Given the description of an element on the screen output the (x, y) to click on. 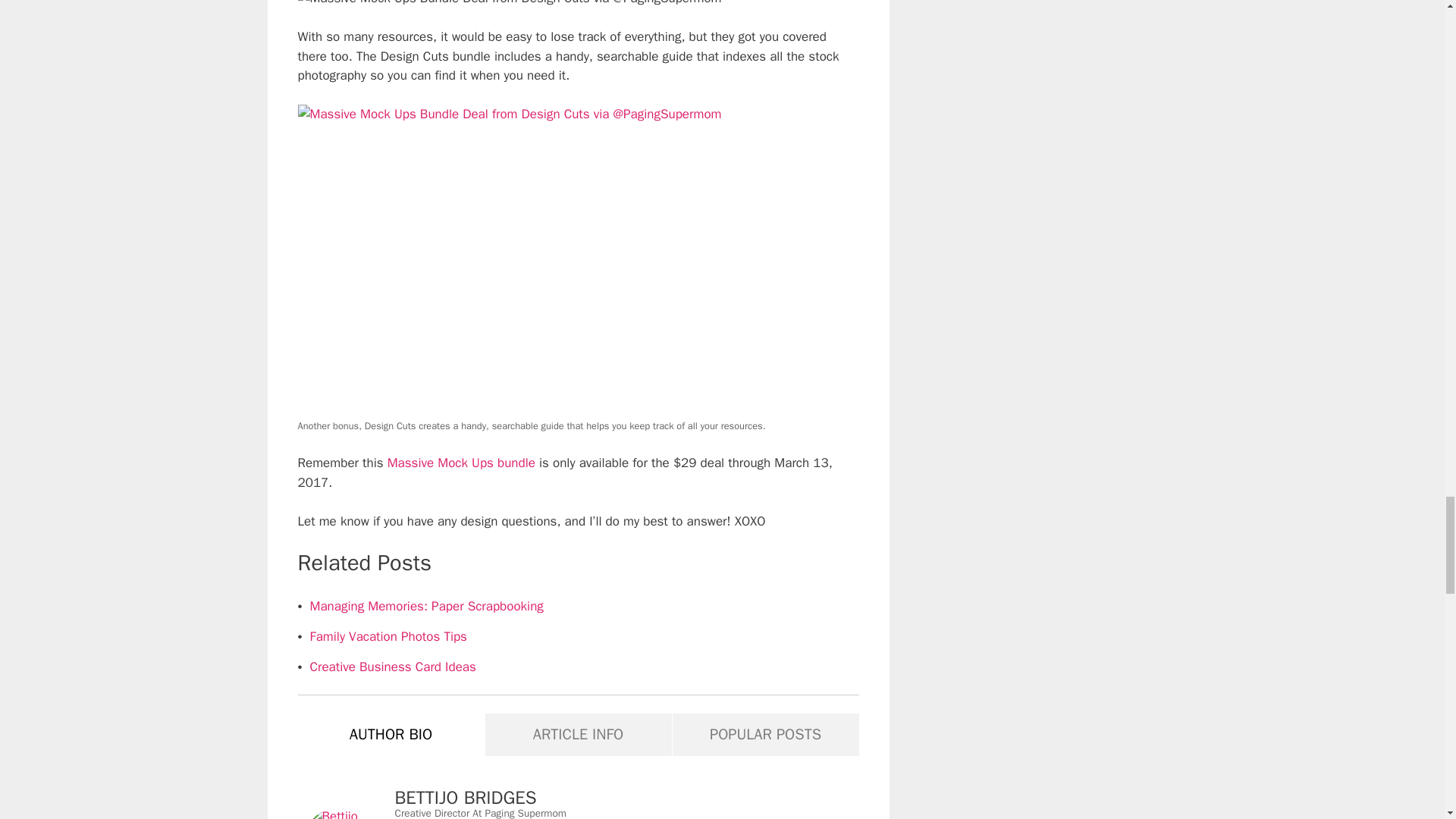
Bettijo Bridges (344, 812)
Design Cuts Massive Mock Ups Bundle (508, 4)
Managing Memories: Paper Scrapbooking (425, 606)
Massive Mock Ups bundle (461, 462)
